Given the description of an element on the screen output the (x, y) to click on. 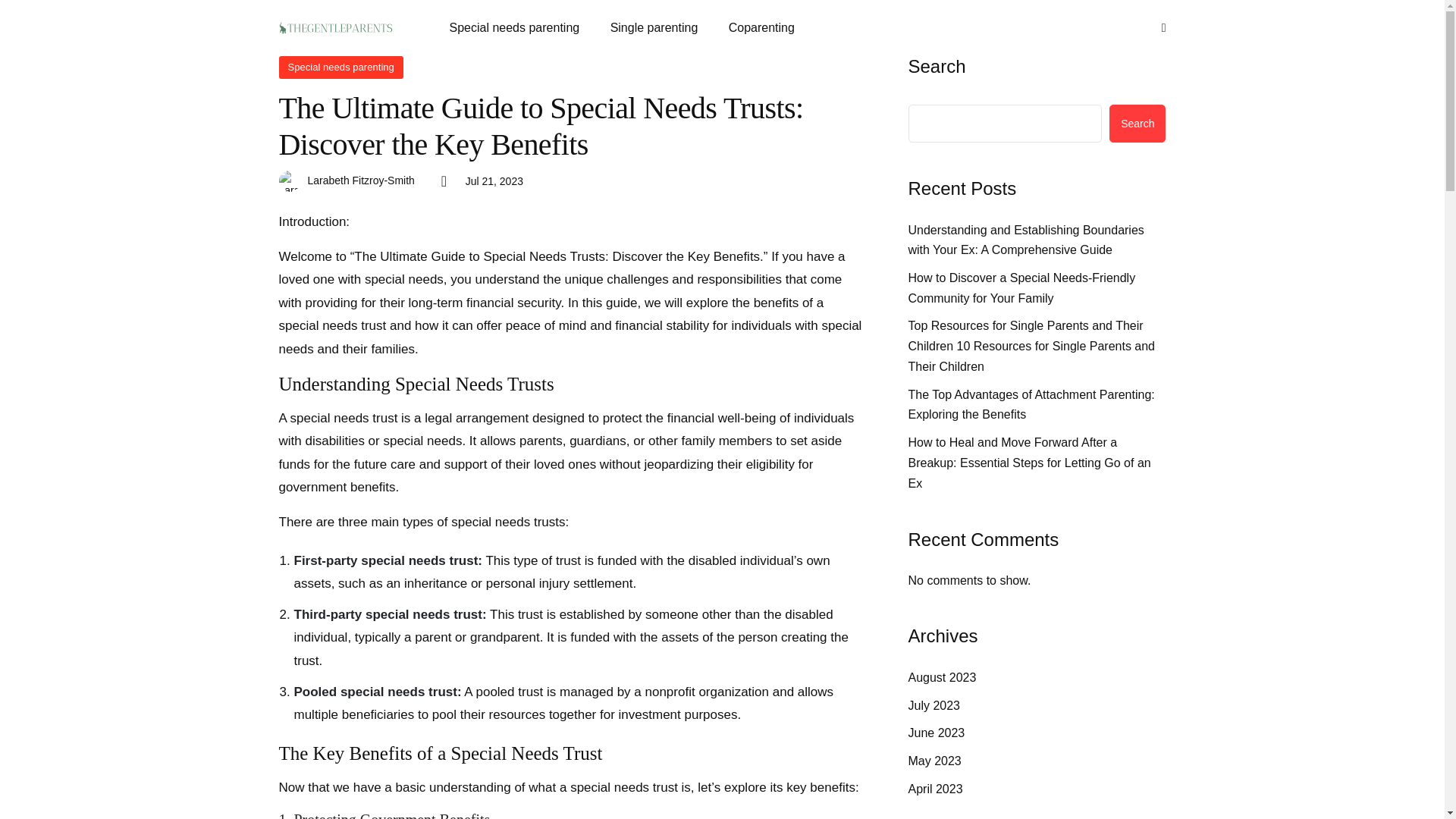
June 2023 (936, 733)
Special needs parenting (520, 27)
August 2023 (942, 678)
Special needs parenting (341, 67)
Search (1137, 123)
Coparenting (761, 27)
Larabeth Fitzroy-Smith (360, 180)
April 2023 (935, 789)
Single parenting (653, 27)
May 2023 (934, 761)
